Given the description of an element on the screen output the (x, y) to click on. 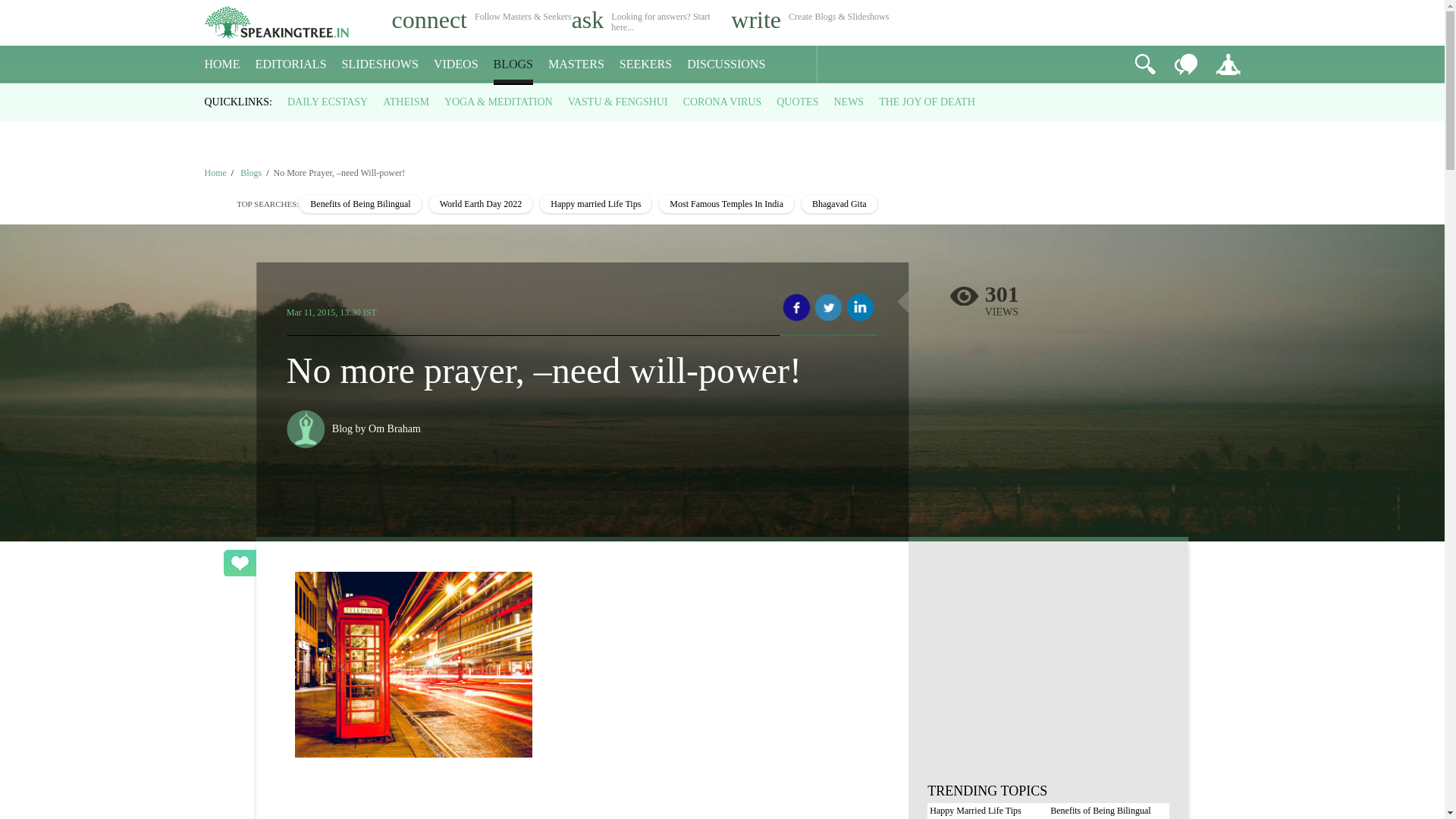
NEWS (847, 101)
BLOGS (512, 64)
ATHEISM (405, 101)
HOME (222, 64)
Blogs (251, 172)
3rd party ad content (1047, 674)
CORONA VIRUS (721, 101)
QUOTES (797, 101)
MASTERS (576, 64)
DISCUSSIONS (726, 64)
THE JOY OF DEATH (927, 101)
SLIDESHOWS (380, 64)
Share on LinkedIn (860, 307)
Speaking Tree (216, 172)
VIDEOS (456, 64)
